Given the description of an element on the screen output the (x, y) to click on. 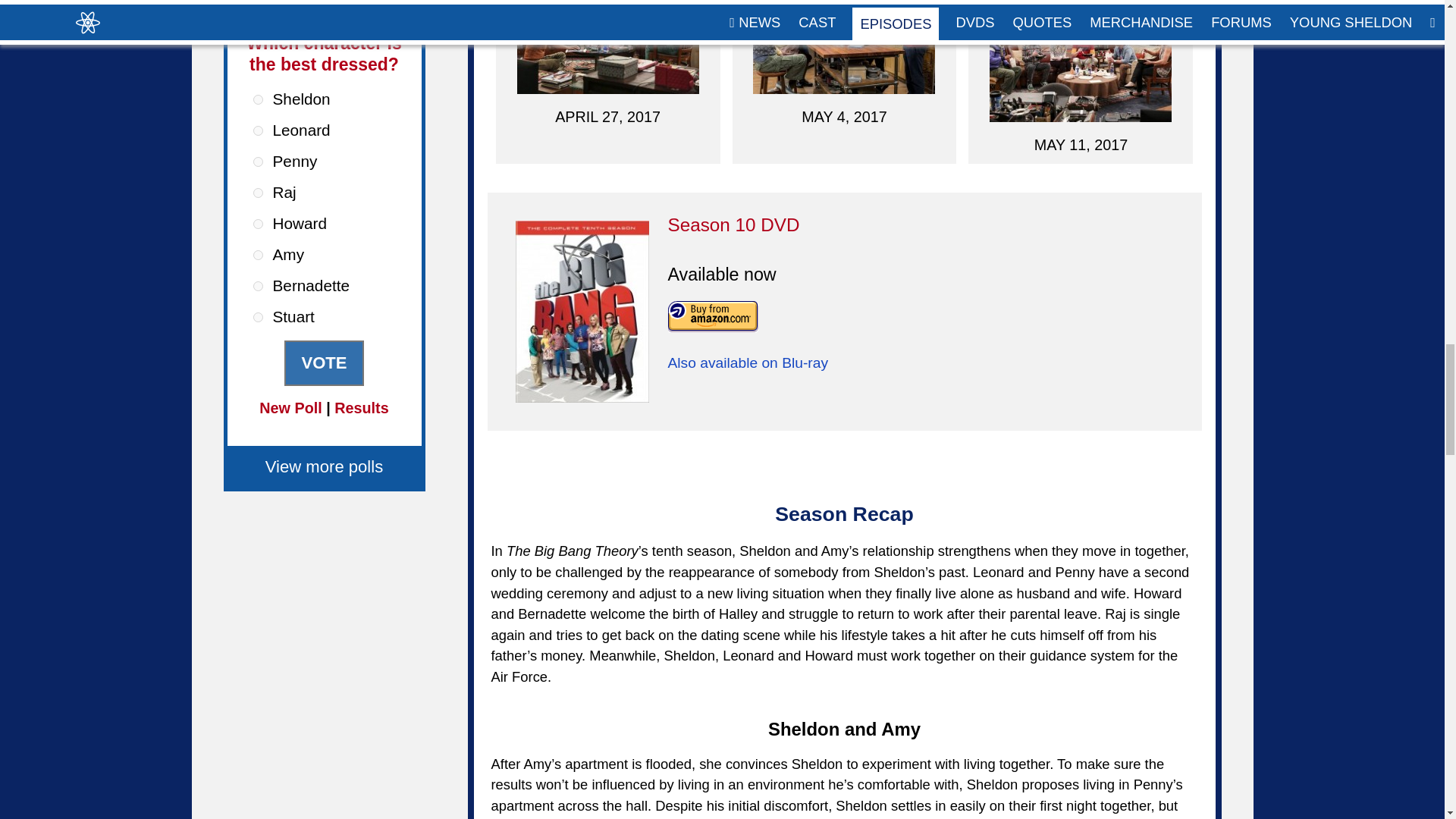
3 (258, 162)
2 (258, 130)
4 (258, 193)
1 (258, 99)
8 (258, 317)
6 (258, 255)
Vote (322, 362)
5 (258, 224)
7 (258, 286)
